Given the description of an element on the screen output the (x, y) to click on. 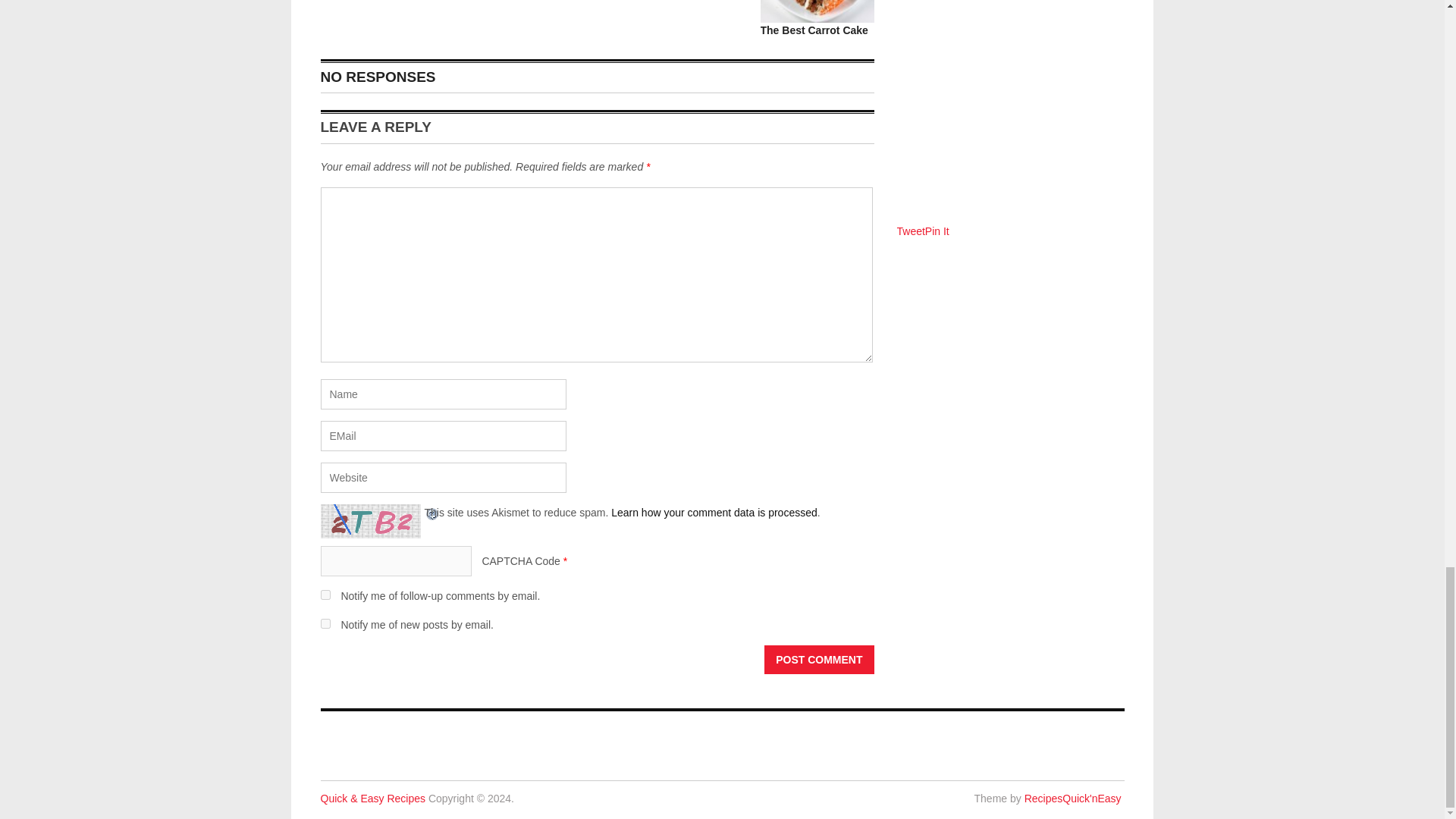
Post Comment (818, 659)
Learn how your comment data is processed (713, 512)
The Best Carrot Cake (813, 30)
subscribe (325, 623)
Post Comment (818, 659)
subscribe (325, 594)
RecipesQuick'nEasy (1073, 798)
CAPTCHA (371, 521)
The Best Carrot Cake (813, 30)
Refresh (433, 512)
